Given the description of an element on the screen output the (x, y) to click on. 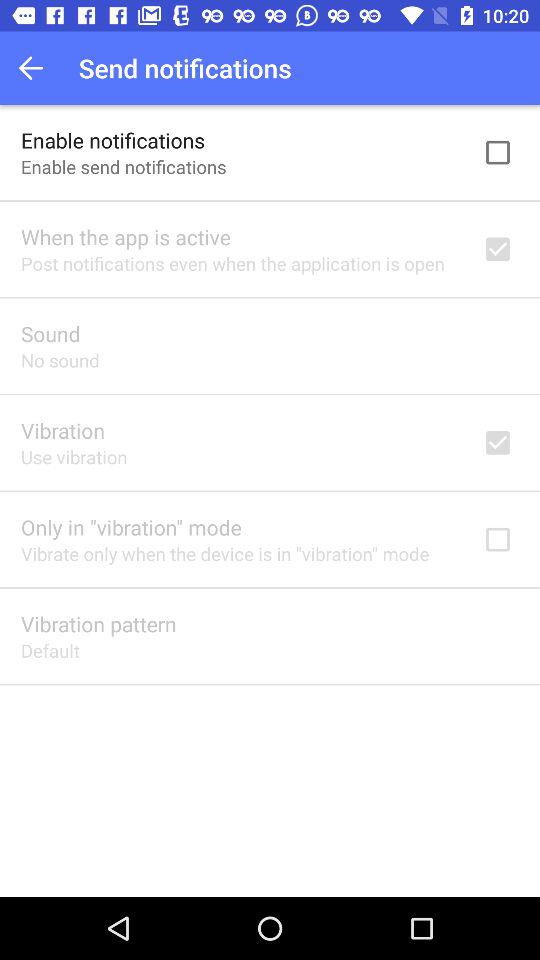
swipe to the vibrate only when app (225, 553)
